Given the description of an element on the screen output the (x, y) to click on. 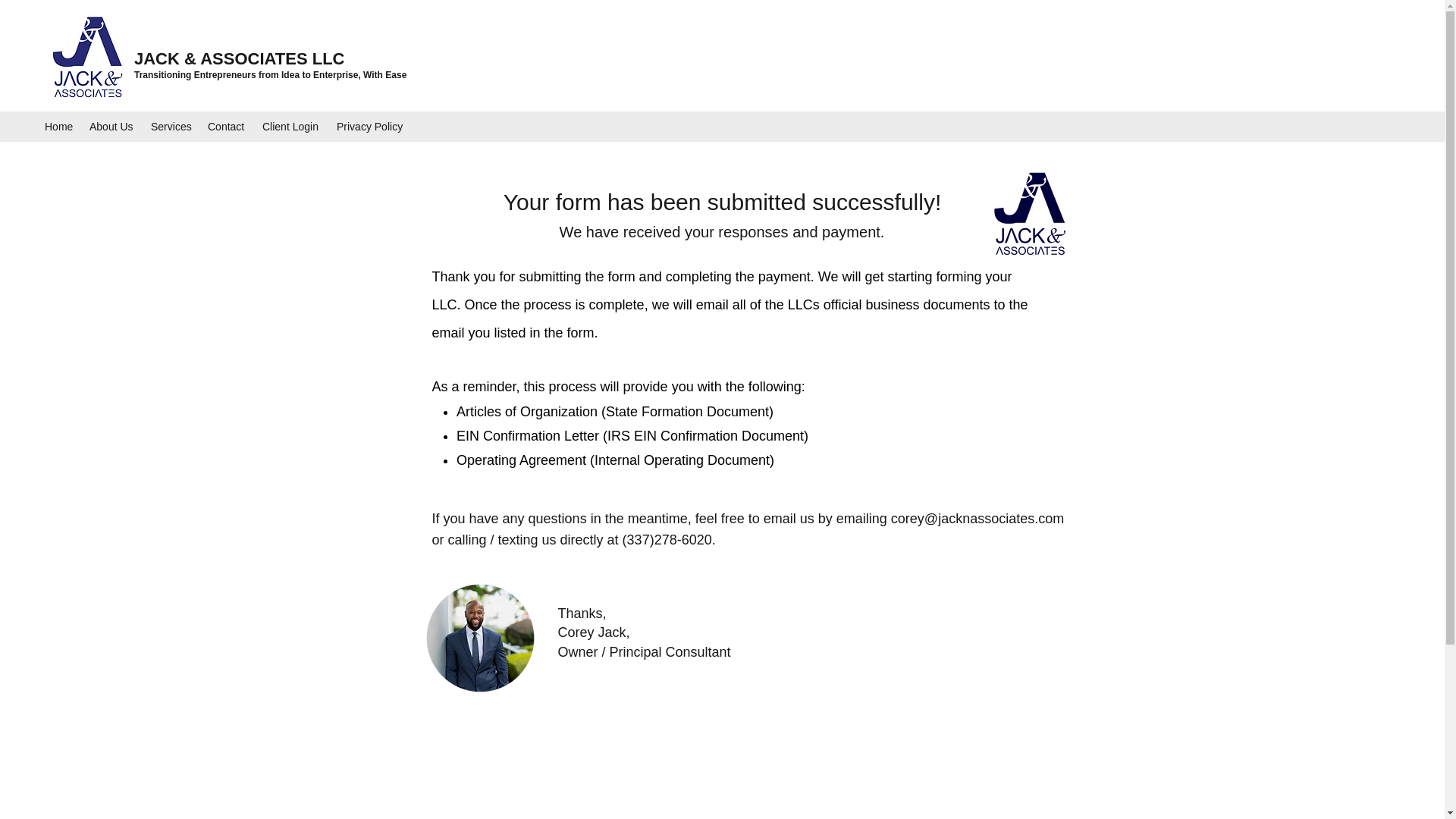
About Us (111, 126)
Privacy Policy (371, 126)
Contact (227, 126)
Home (59, 126)
Services (171, 126)
Client Login (291, 126)
